Given the description of an element on the screen output the (x, y) to click on. 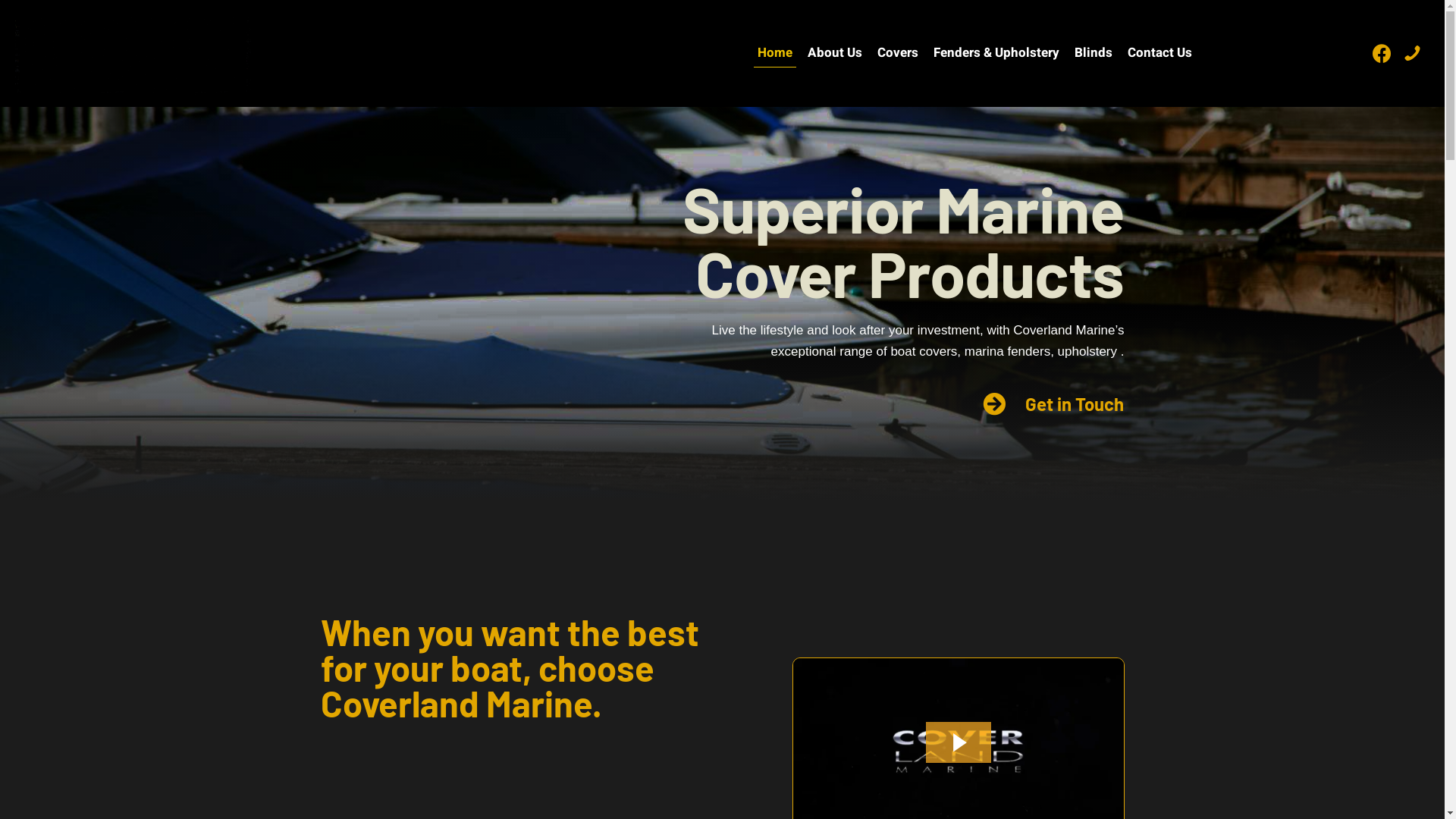
ezgif.com-optimize (8) Element type: hover (133, 53)
Get in Touch Element type: text (1074, 404)
Fenders & Upholstery Element type: text (996, 52)
Contact Us Element type: text (1159, 52)
Covers Element type: text (897, 52)
Blinds Element type: text (1093, 52)
Home Element type: text (774, 52)
About Us Element type: text (834, 52)
